Given the description of an element on the screen output the (x, y) to click on. 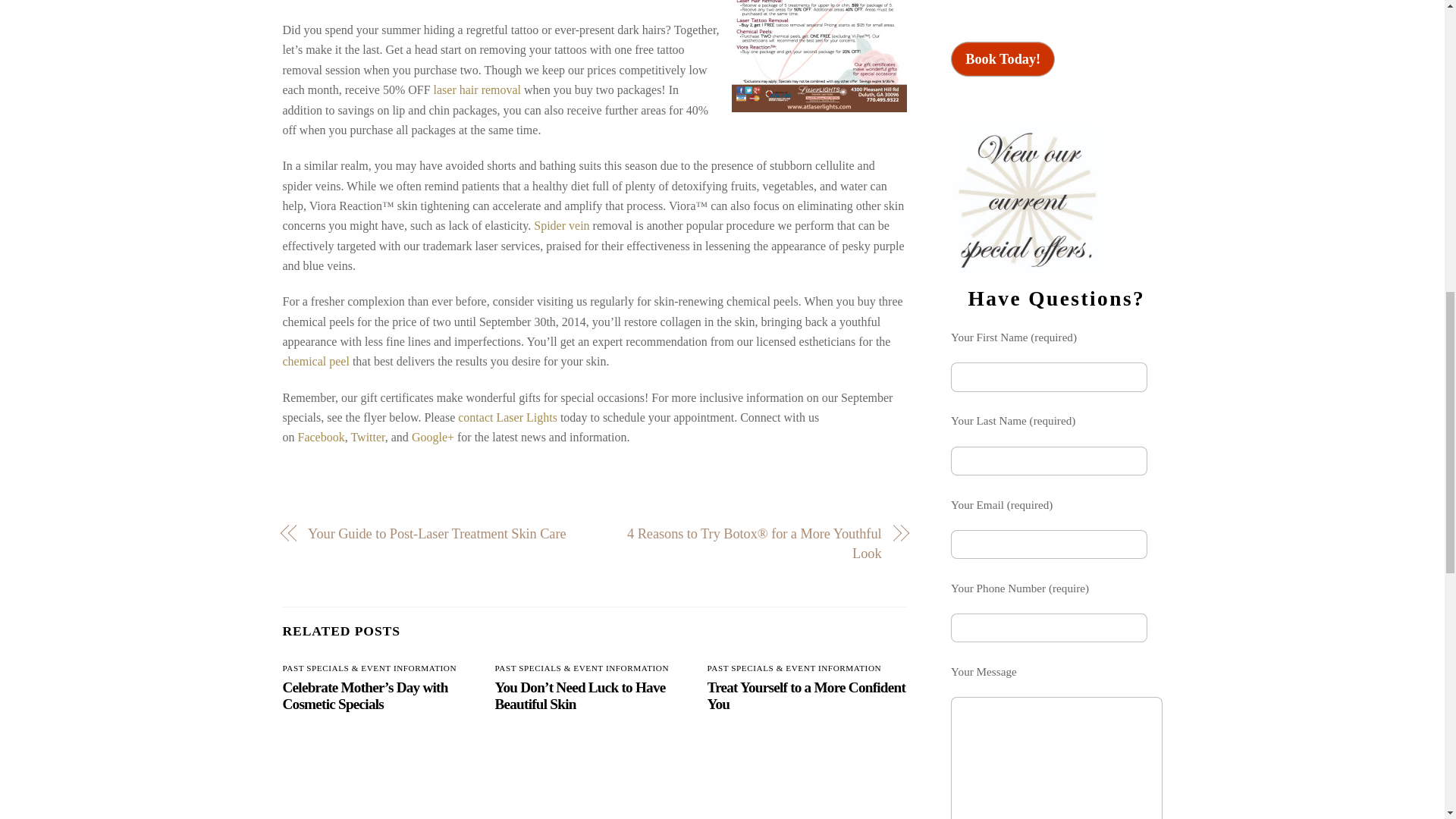
chemical peel (315, 360)
Spider vein (561, 225)
laser hair removal (477, 89)
contact Laser Lights (507, 417)
